Given the description of an element on the screen output the (x, y) to click on. 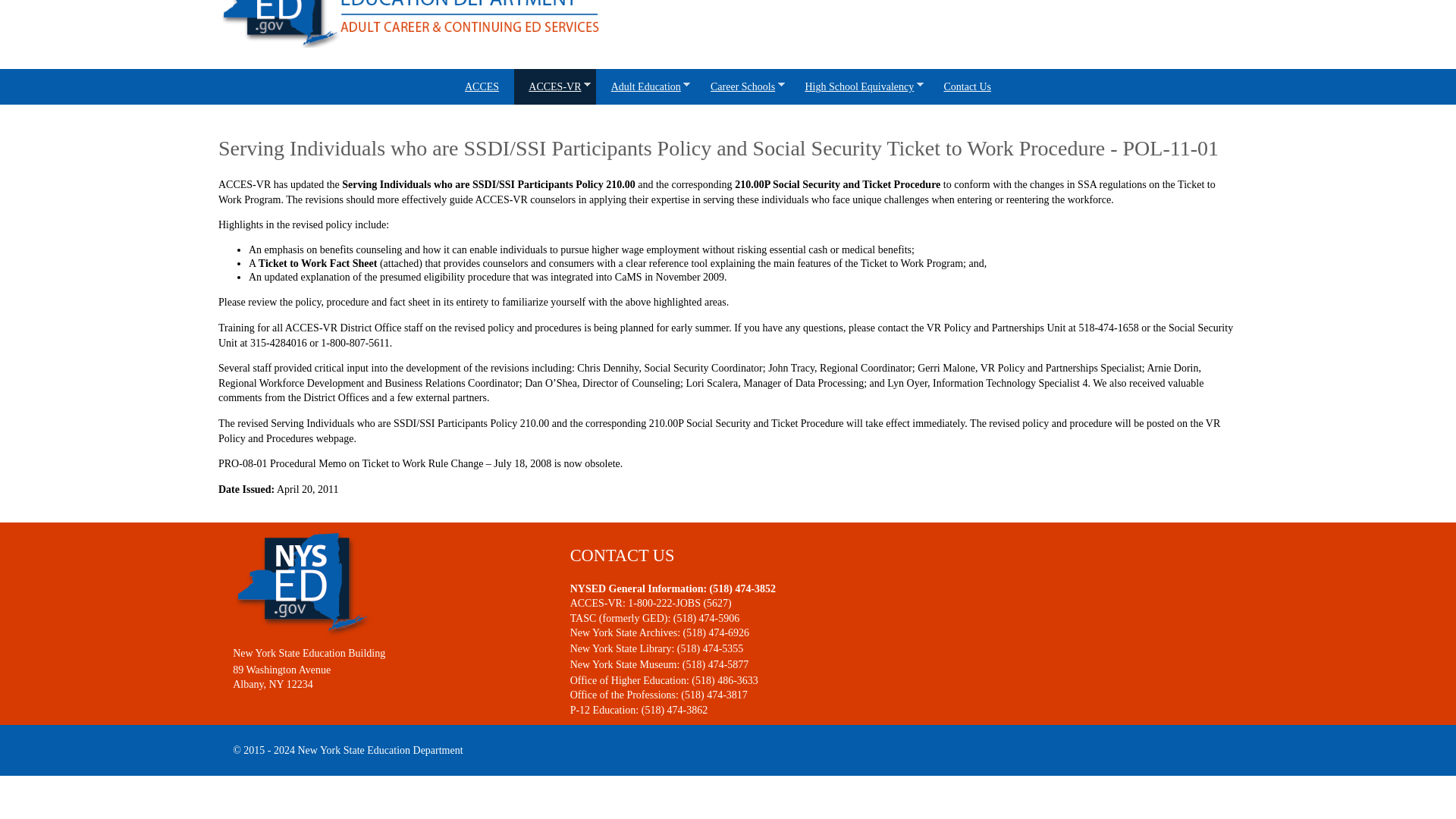
ACCES (481, 86)
